Given the description of an element on the screen output the (x, y) to click on. 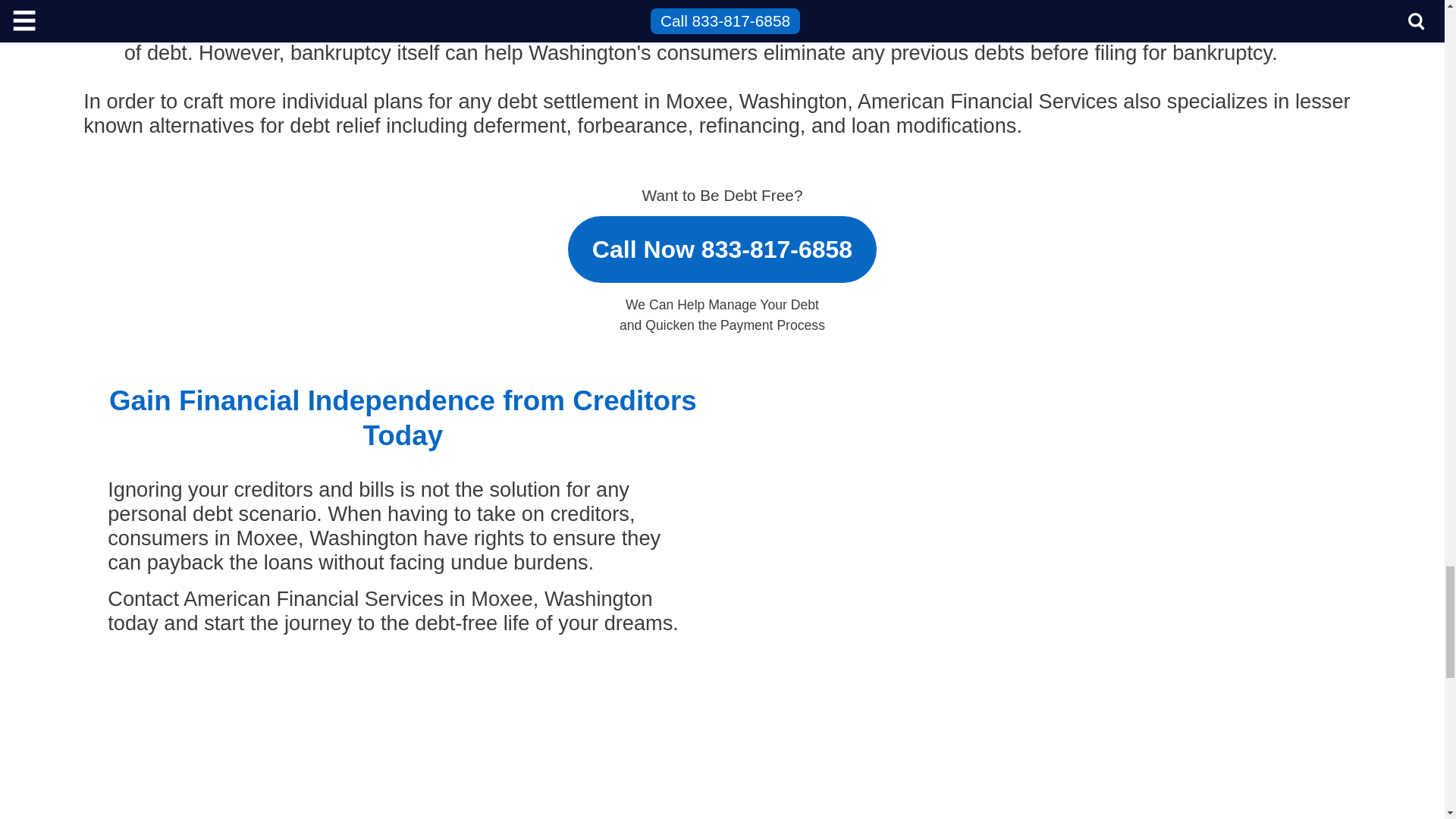
Call Now 833-817-6858 (722, 242)
